Given the description of an element on the screen output the (x, y) to click on. 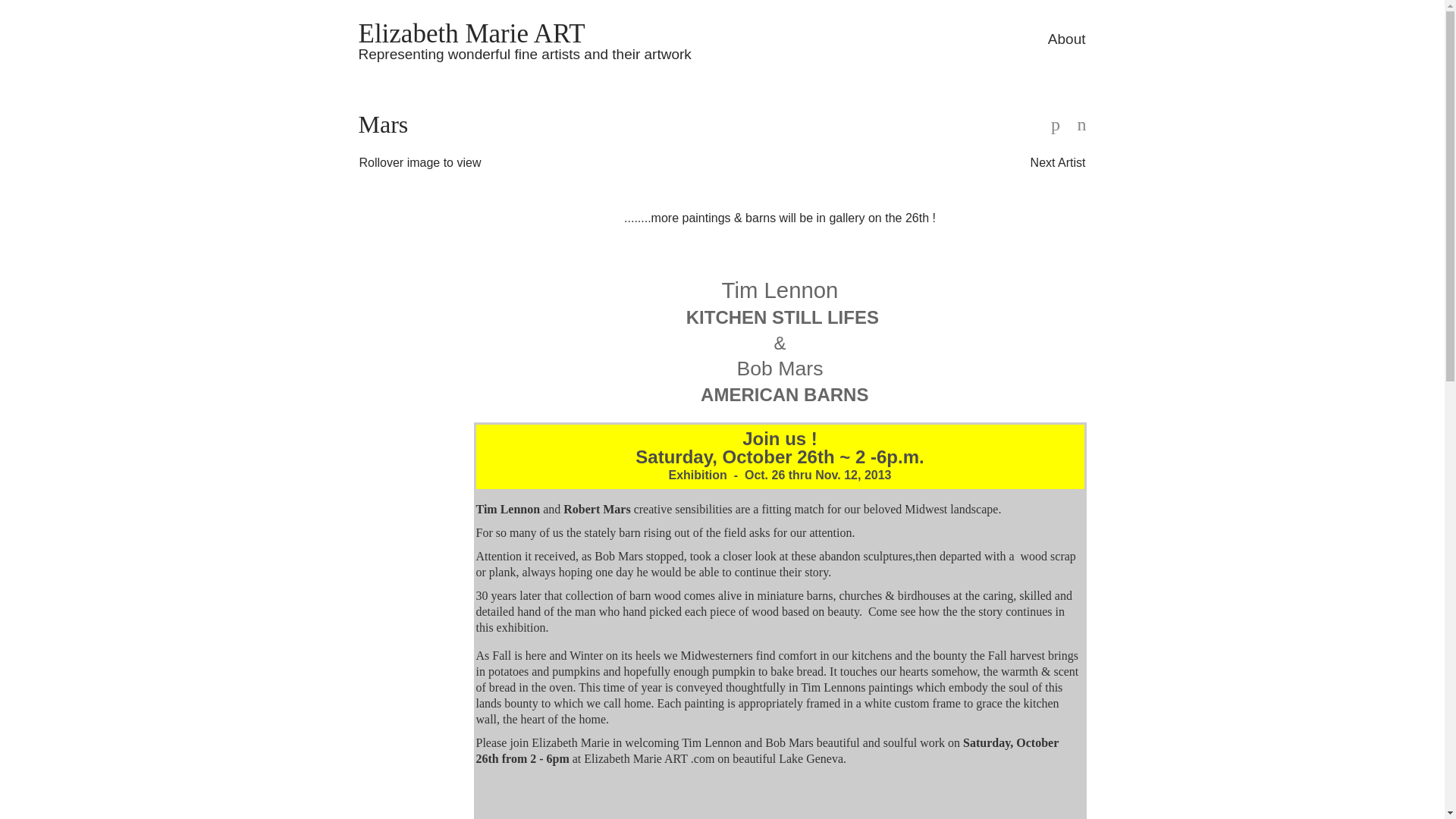
Elizabeth Marie ART (471, 30)
About (1067, 38)
Representing wonderful fine artists and their artwork (524, 53)
Elizabeth Marie ART .com (647, 758)
